Given the description of an element on the screen output the (x, y) to click on. 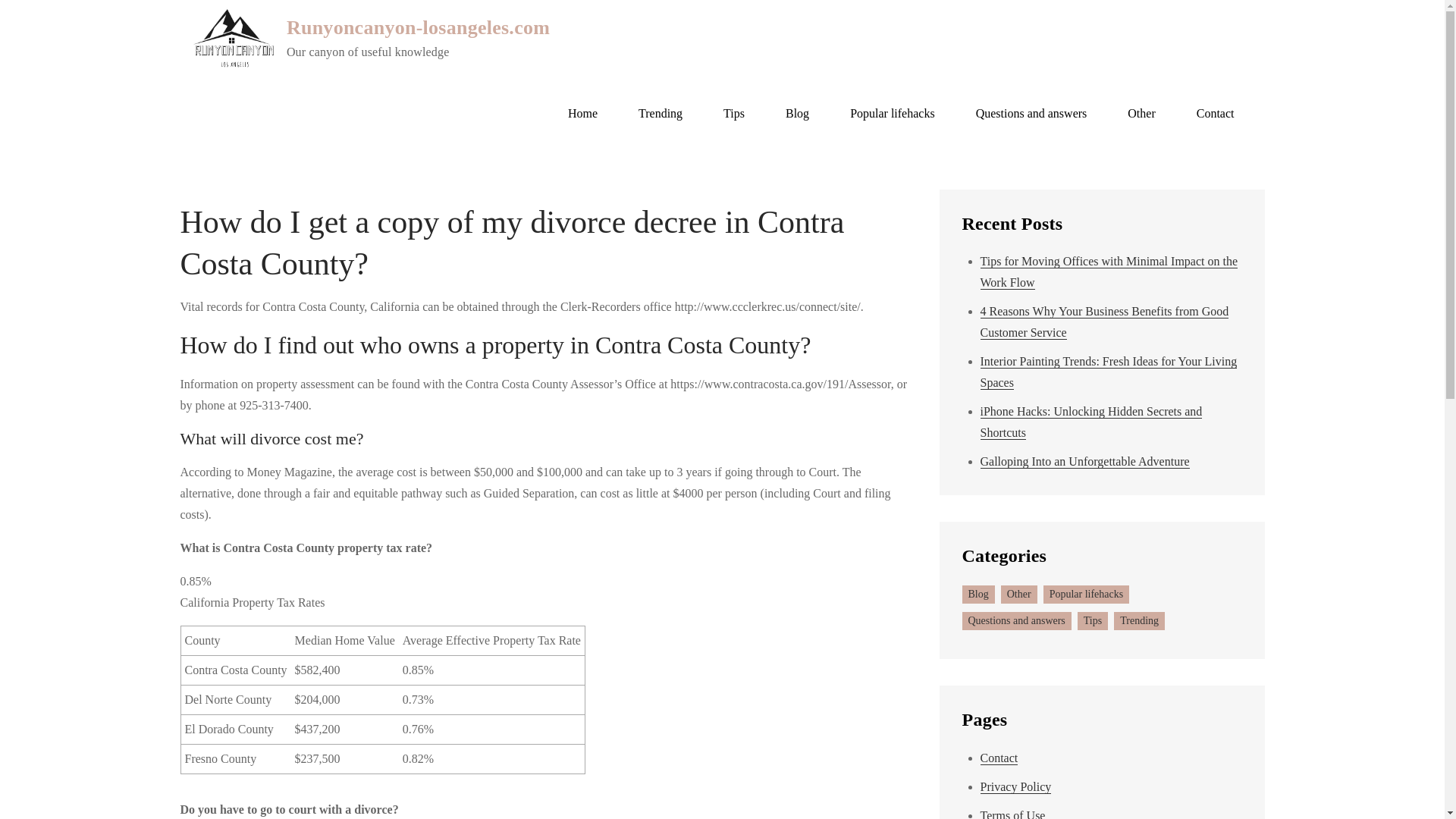
Blog (977, 594)
Interior Painting Trends: Fresh Ideas for Your Living Spaces (1107, 371)
iPhone Hacks: Unlocking Hidden Secrets and Shortcuts (1090, 421)
Trending (1138, 620)
Questions and answers (1031, 113)
Tips for Moving Offices with Minimal Impact on the Work Flow (1108, 271)
Privacy Policy (1015, 786)
Tips (1092, 620)
Home (581, 113)
